Given the description of an element on the screen output the (x, y) to click on. 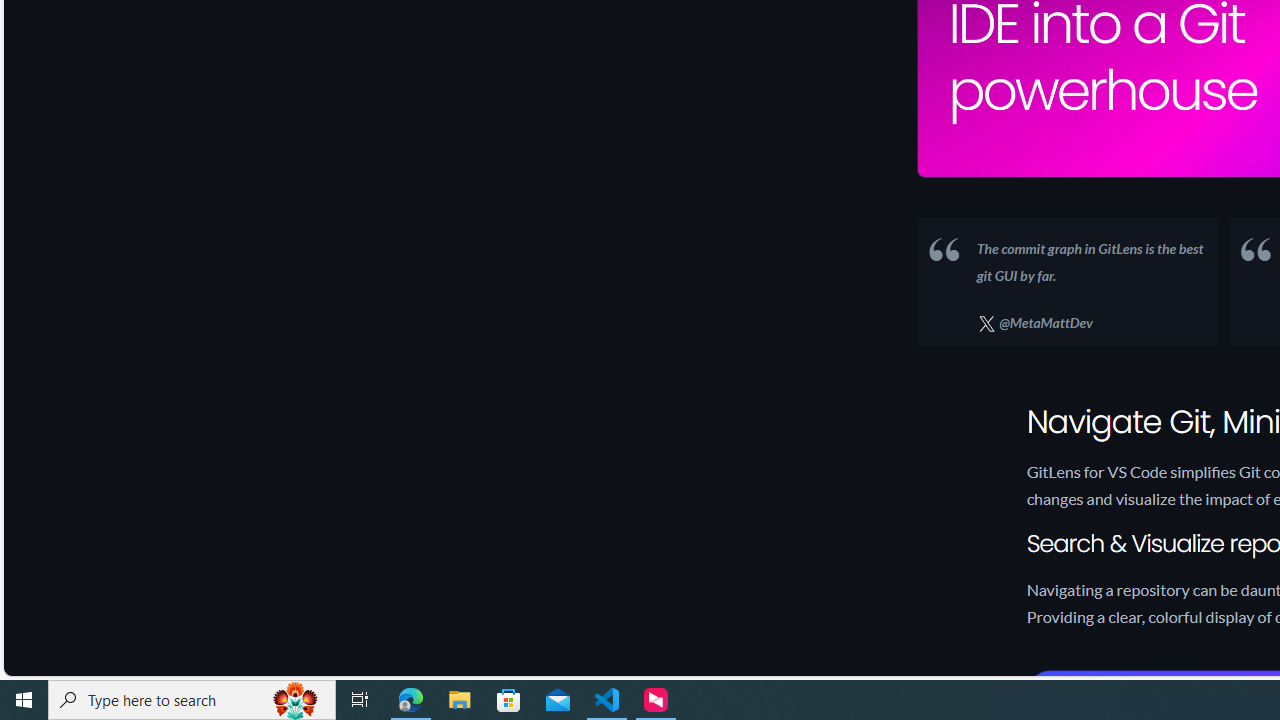
Microsoft Edge - 1 running window (411, 699)
Microsoft Store (509, 699)
Task View (359, 699)
Visual Studio Code - 1 running window (607, 699)
File Explorer (460, 699)
Start (24, 699)
Type here to search (191, 699)
Search highlights icon opens search home window (295, 699)
